Given the description of an element on the screen output the (x, y) to click on. 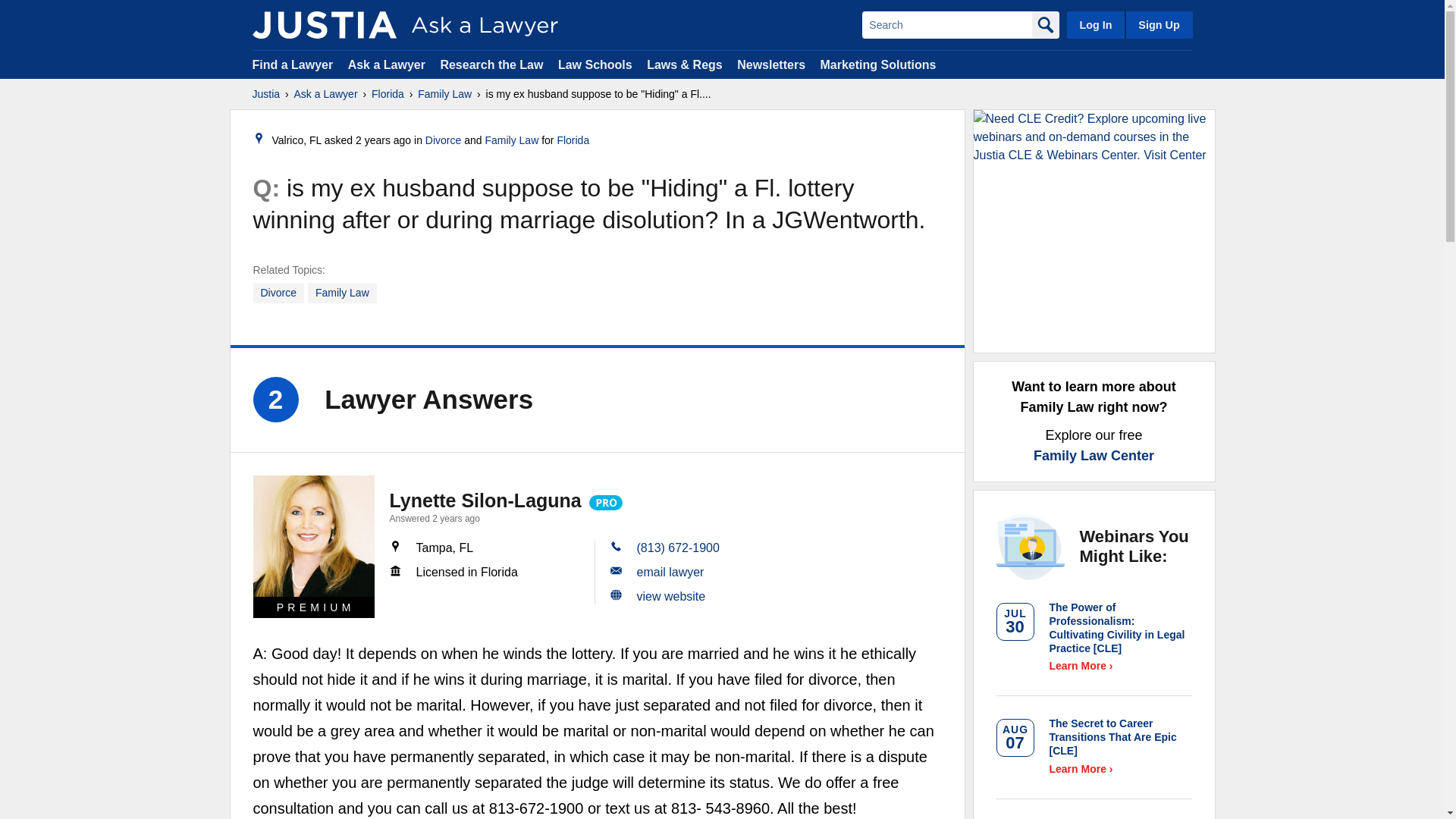
Lynette Silon-Laguna (313, 536)
Family Law (342, 292)
Newsletters (770, 64)
Divorce (443, 140)
Divorce (278, 292)
Law Schools (594, 64)
2021-07-31T21:19:56-07:00 (382, 140)
Florida (387, 93)
Justia (323, 24)
Ask a Lawyer (326, 93)
Florida (572, 140)
Log In (1094, 24)
Family Law (511, 140)
email lawyer (670, 571)
Lynette Silon-Laguna (485, 500)
